Given the description of an element on the screen output the (x, y) to click on. 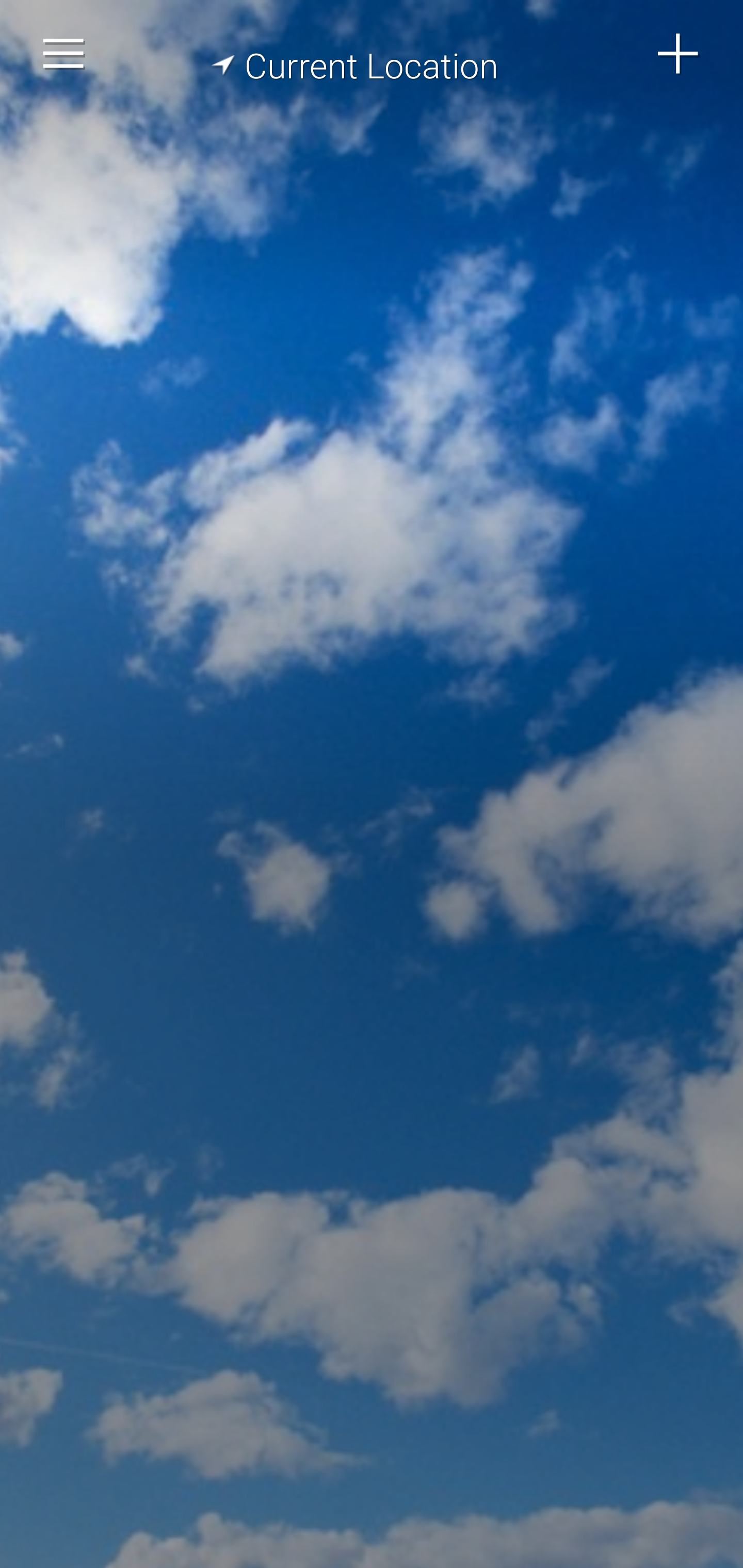
Sidebar (64, 54)
Add City (678, 53)
